Given the description of an element on the screen output the (x, y) to click on. 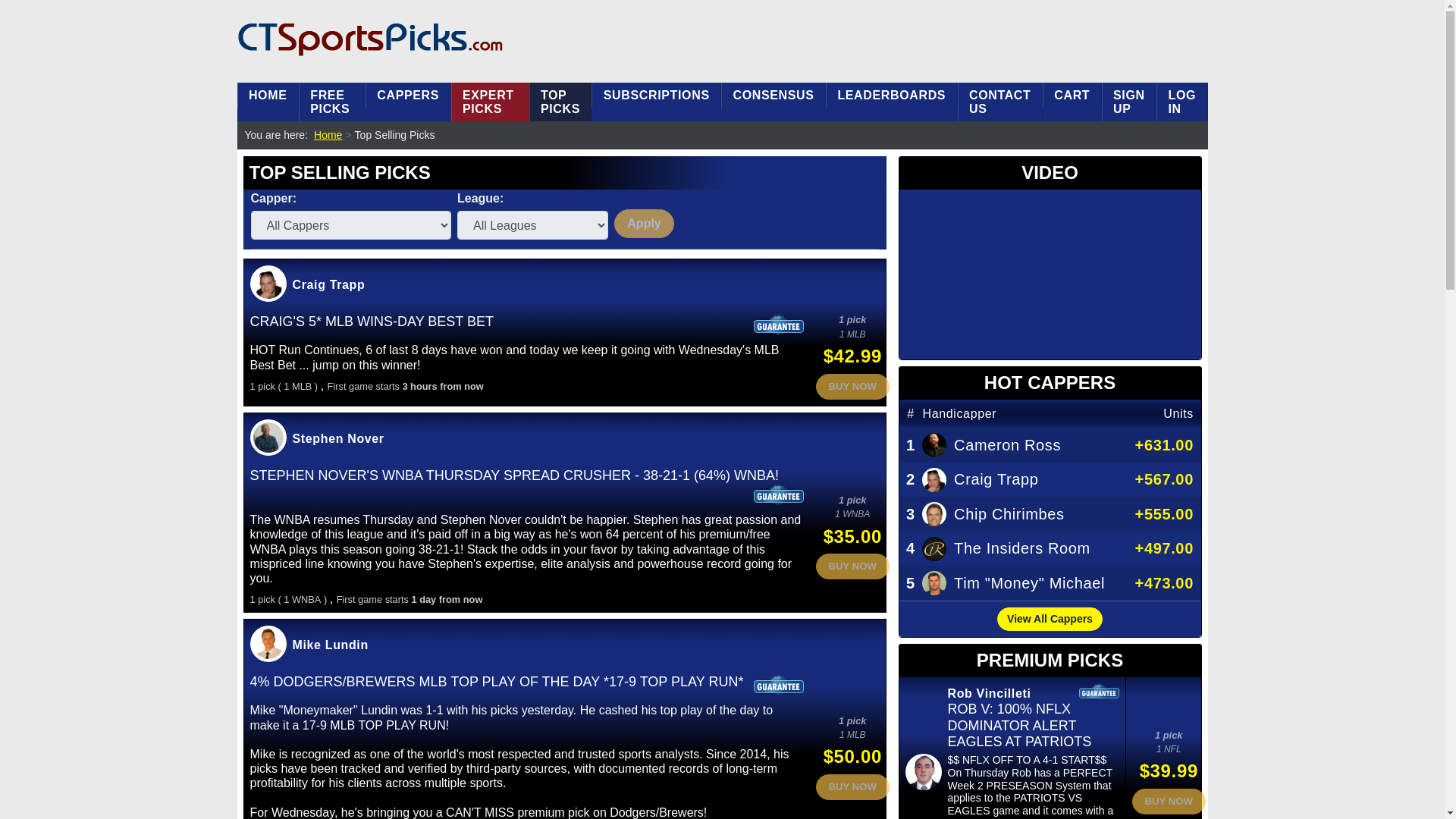
BUY NOW (852, 386)
SIGN UP (1129, 101)
BUY NOW (852, 786)
Mike Lundin (330, 644)
CART (1072, 95)
CONTACT US (1000, 101)
FREE PICKS (331, 101)
Craig Trapp (328, 284)
Home (328, 135)
CAPPERS (408, 95)
